Given the description of an element on the screen output the (x, y) to click on. 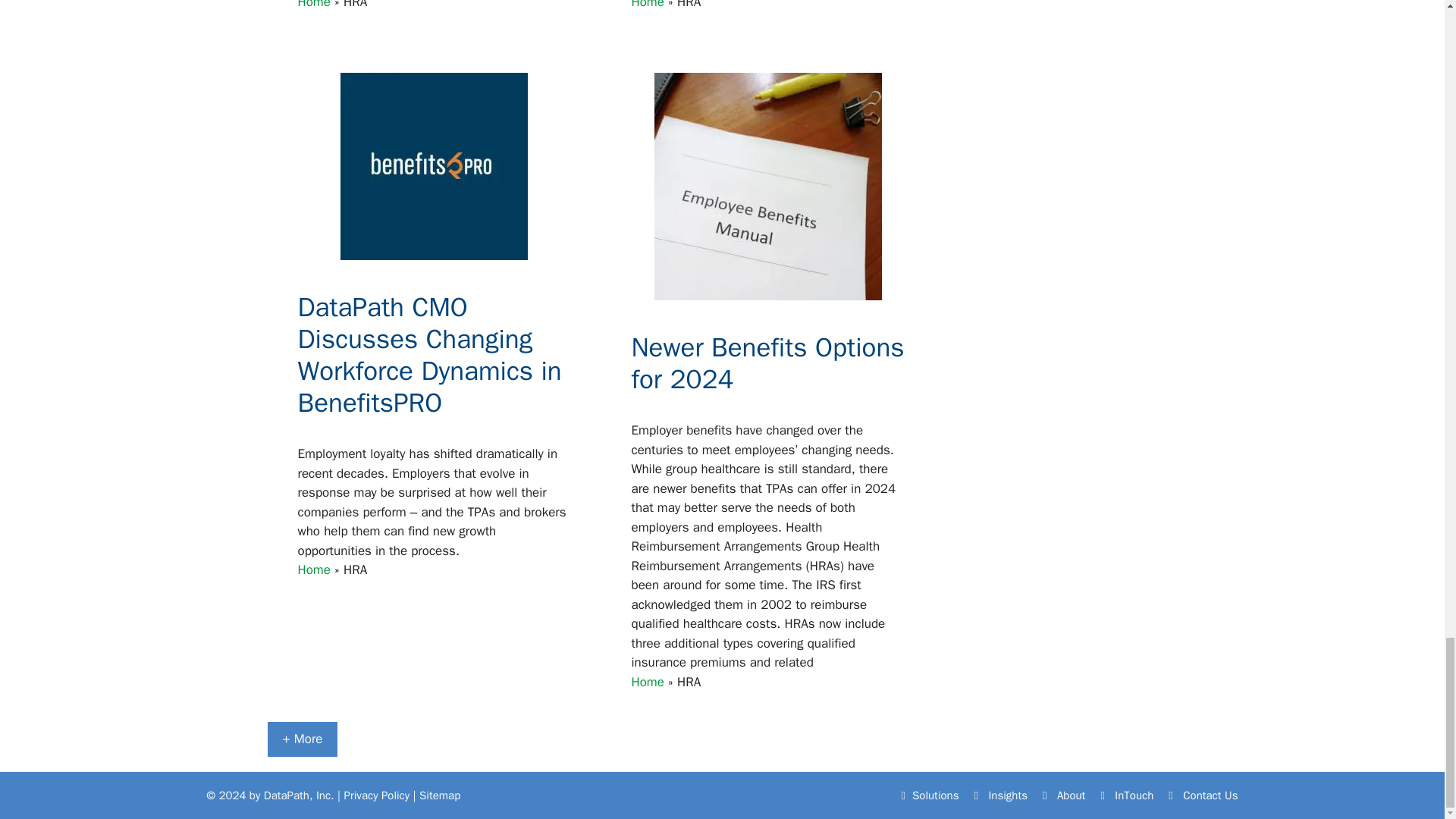
Home (313, 4)
Home (646, 4)
